Given the description of an element on the screen output the (x, y) to click on. 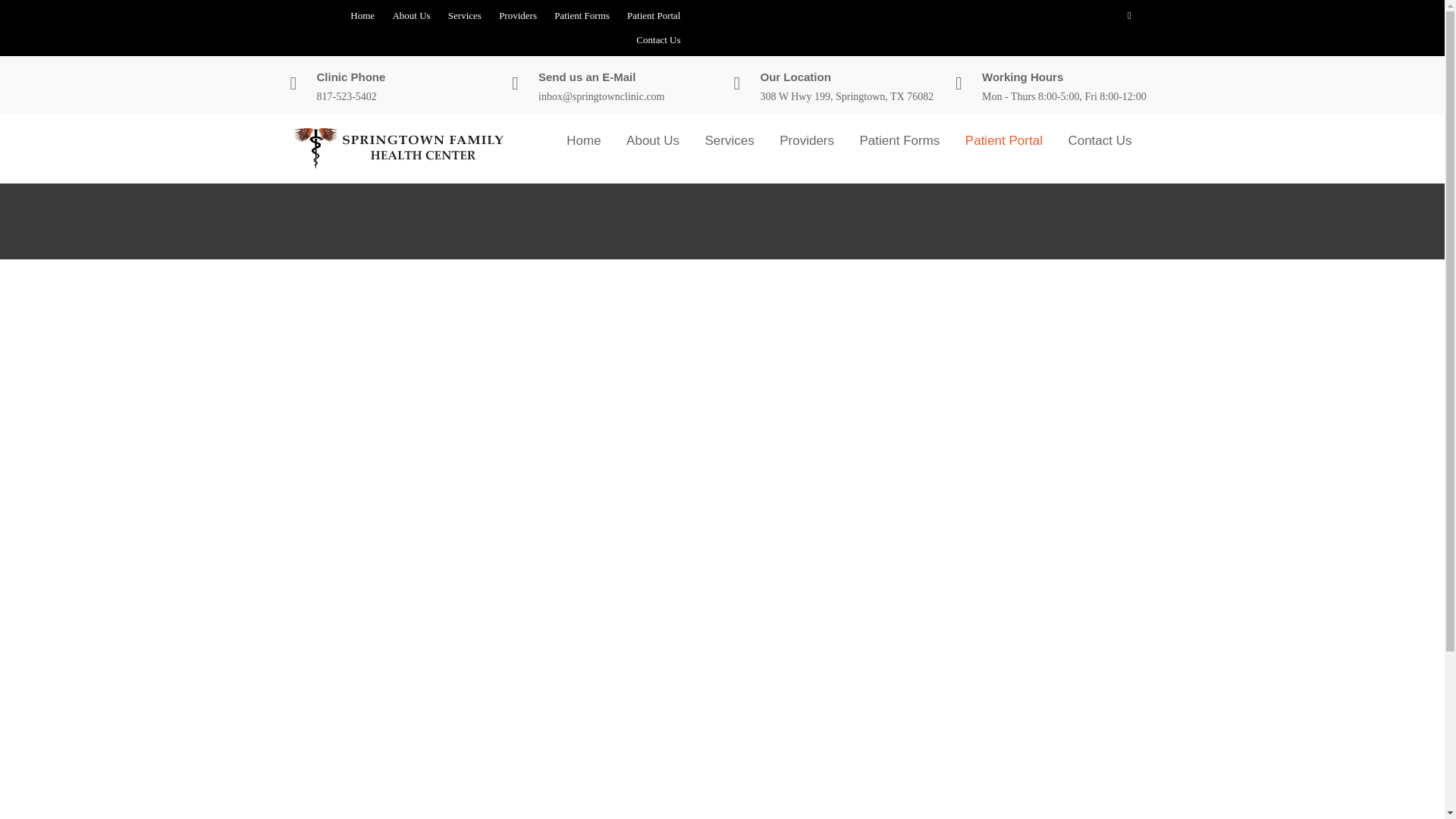
Contact Us (657, 39)
Home (582, 139)
About Us (410, 15)
Patient Portal (1003, 139)
Services (729, 139)
Providers (518, 15)
Services (464, 15)
Patient Portal (653, 15)
Contact Us (1099, 139)
About Us (652, 139)
Home (362, 15)
Patient Forms (900, 139)
Providers (806, 139)
Patient Forms (582, 15)
